Given the description of an element on the screen output the (x, y) to click on. 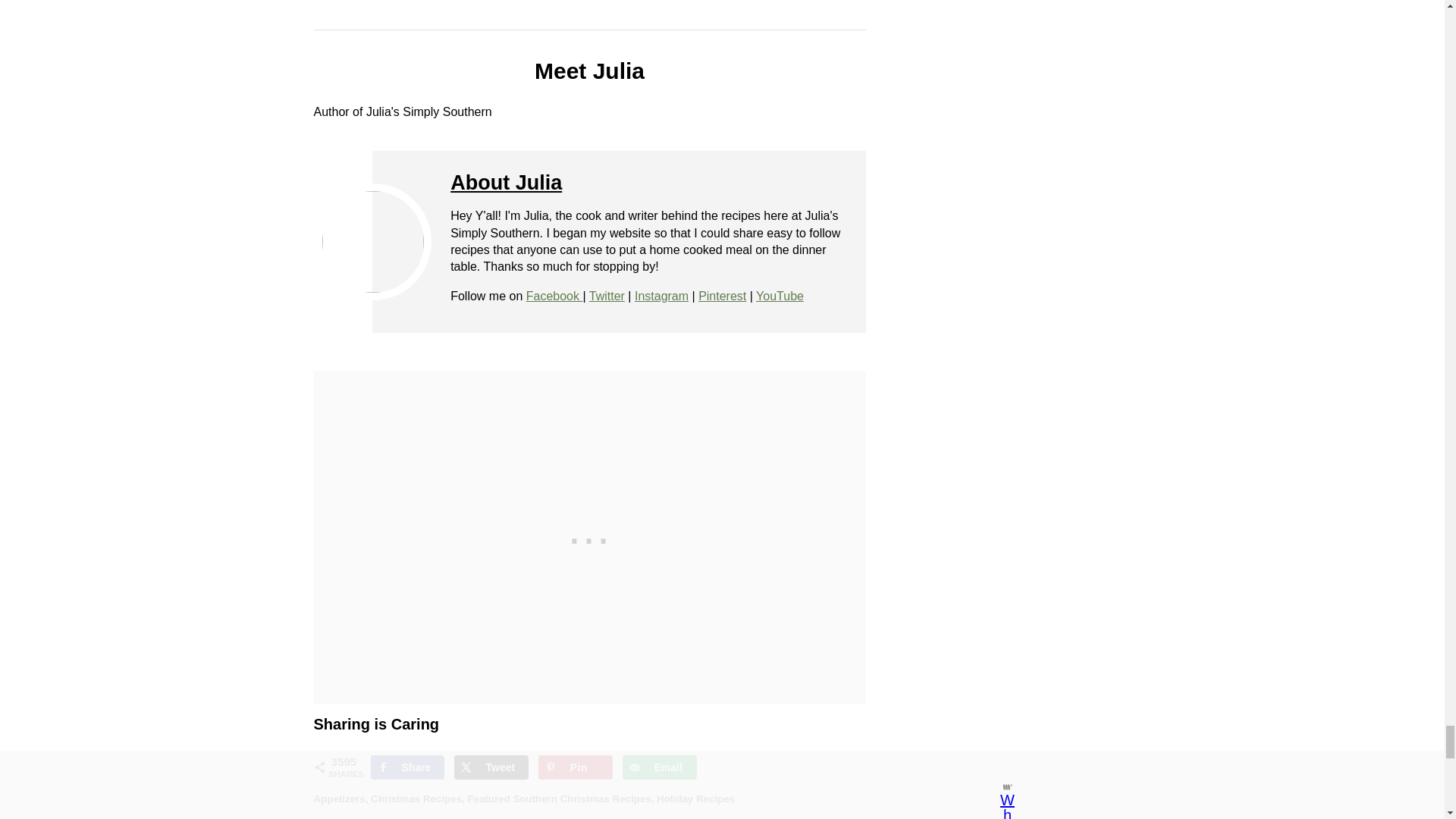
Save to Pinterest (575, 767)
Share on Facebook (406, 767)
Share on X (491, 767)
Send over email (660, 767)
